Given the description of an element on the screen output the (x, y) to click on. 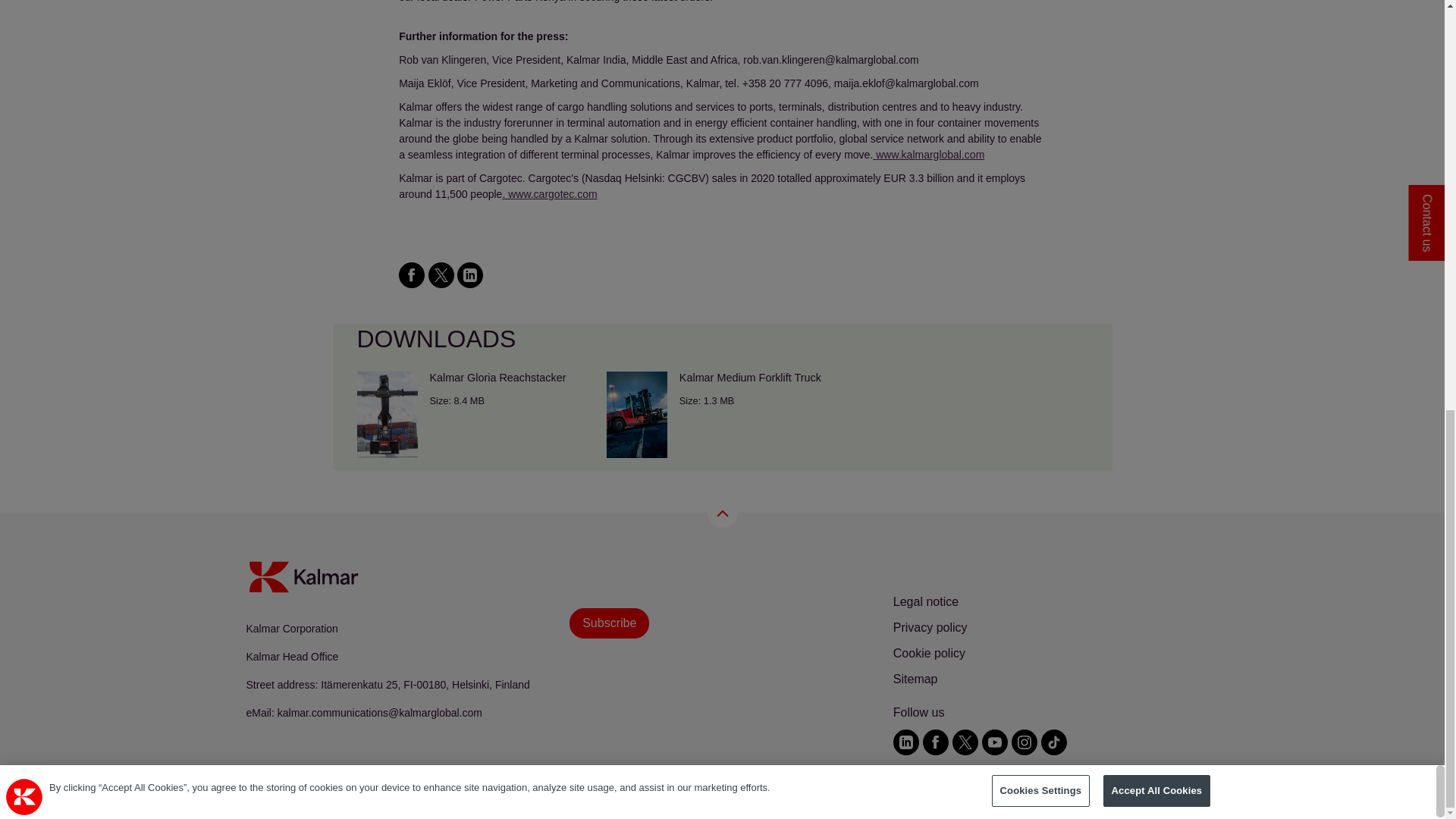
www.kalmarglobal.com (928, 154)
Kalmar logo (302, 576)
. www.cargotec.com (549, 193)
Kalmar Medium Forklift Truck (722, 414)
Kalmar Gloria Reachstacker (472, 414)
